Given the description of an element on the screen output the (x, y) to click on. 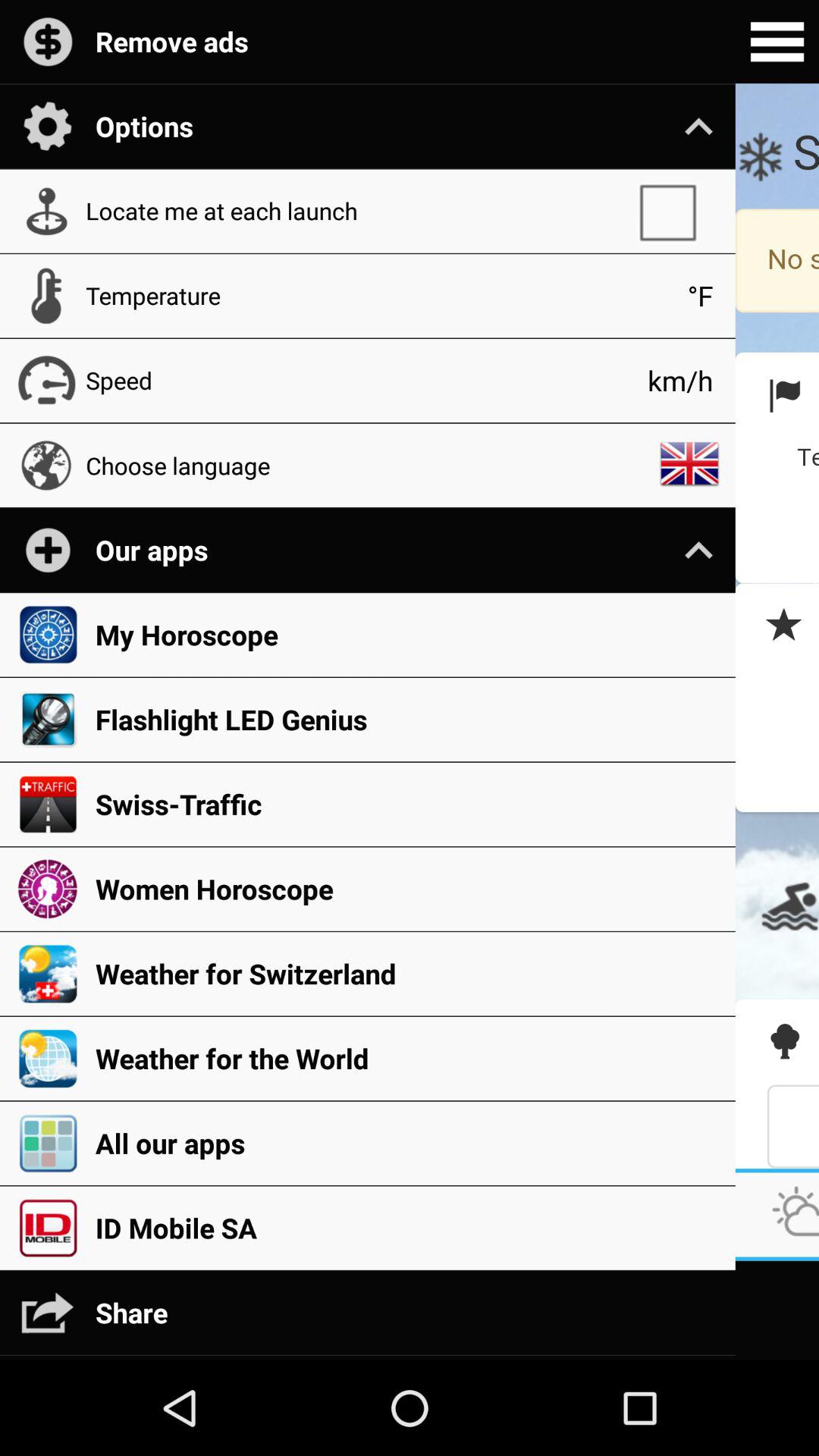
turn off choose language item (367, 465)
